Given the description of an element on the screen output the (x, y) to click on. 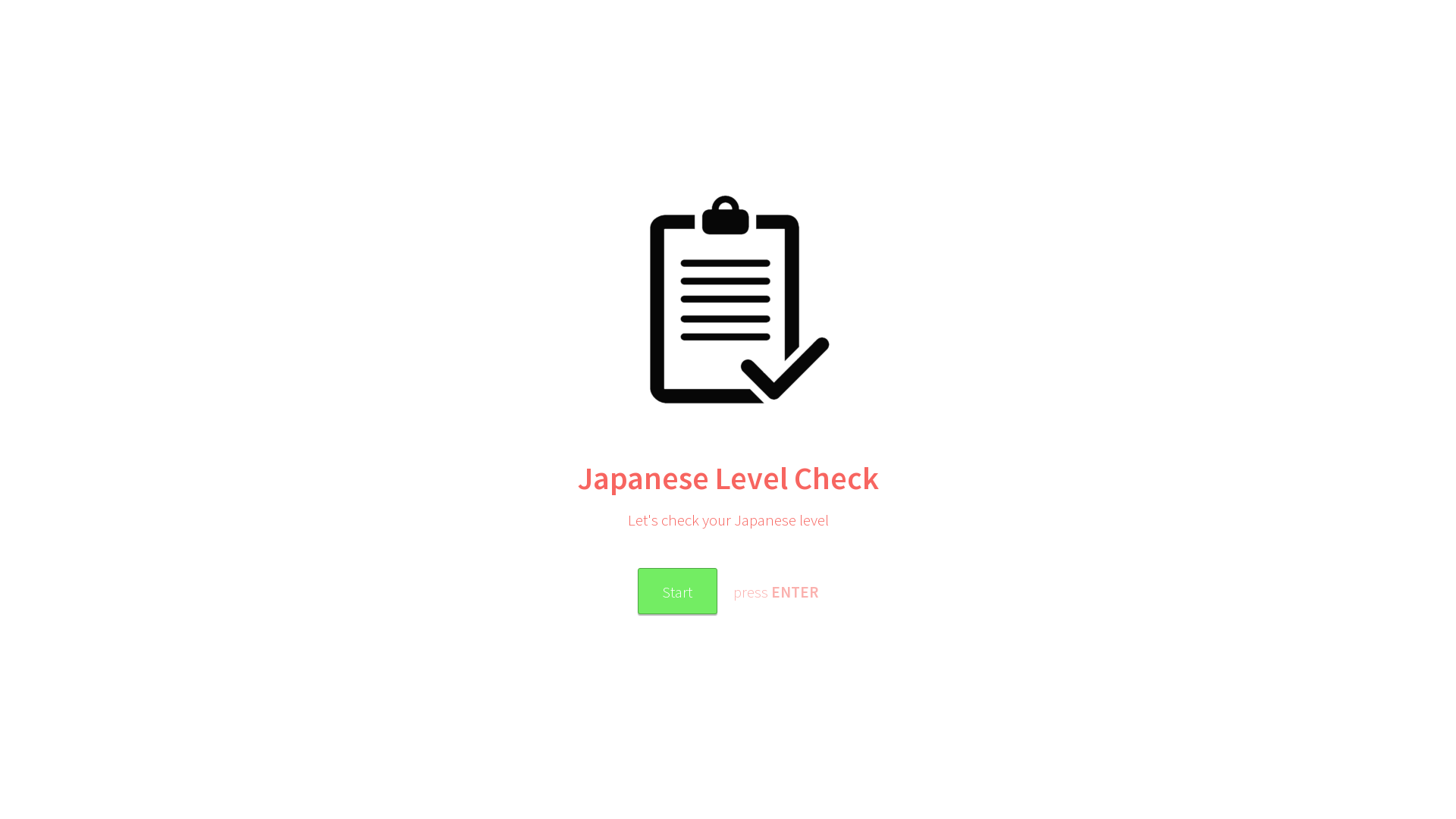
Start Element type: text (676, 590)
